Given the description of an element on the screen output the (x, y) to click on. 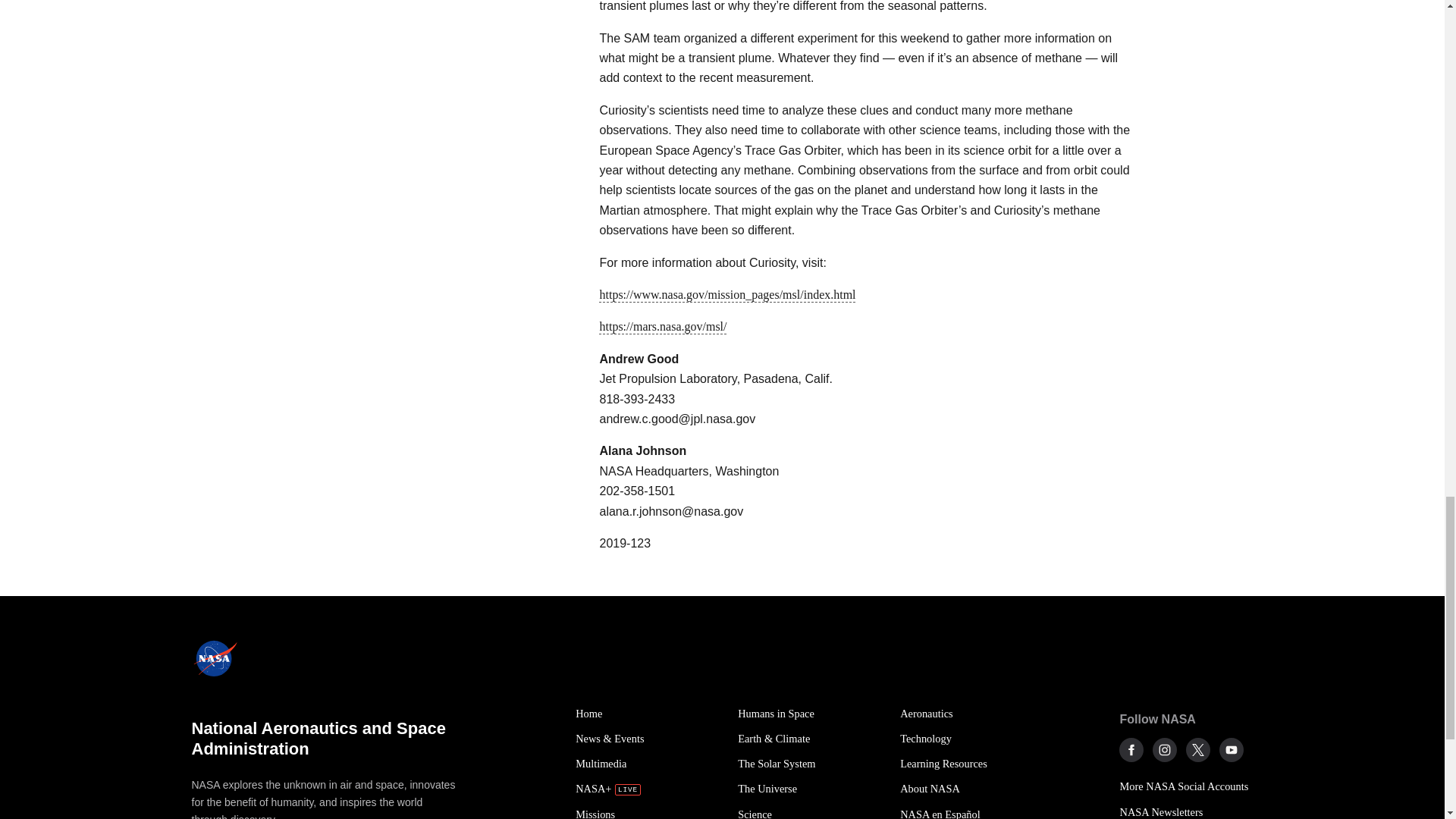
NASA on Instagram (1164, 749)
NASA on YouTube (1231, 749)
The Universe (810, 788)
The Solar System (810, 763)
Multimedia (647, 763)
Missions (647, 810)
NASA on Facebook (1130, 749)
Home (647, 713)
Humans in Space (810, 713)
NASA on X (1197, 749)
